Given the description of an element on the screen output the (x, y) to click on. 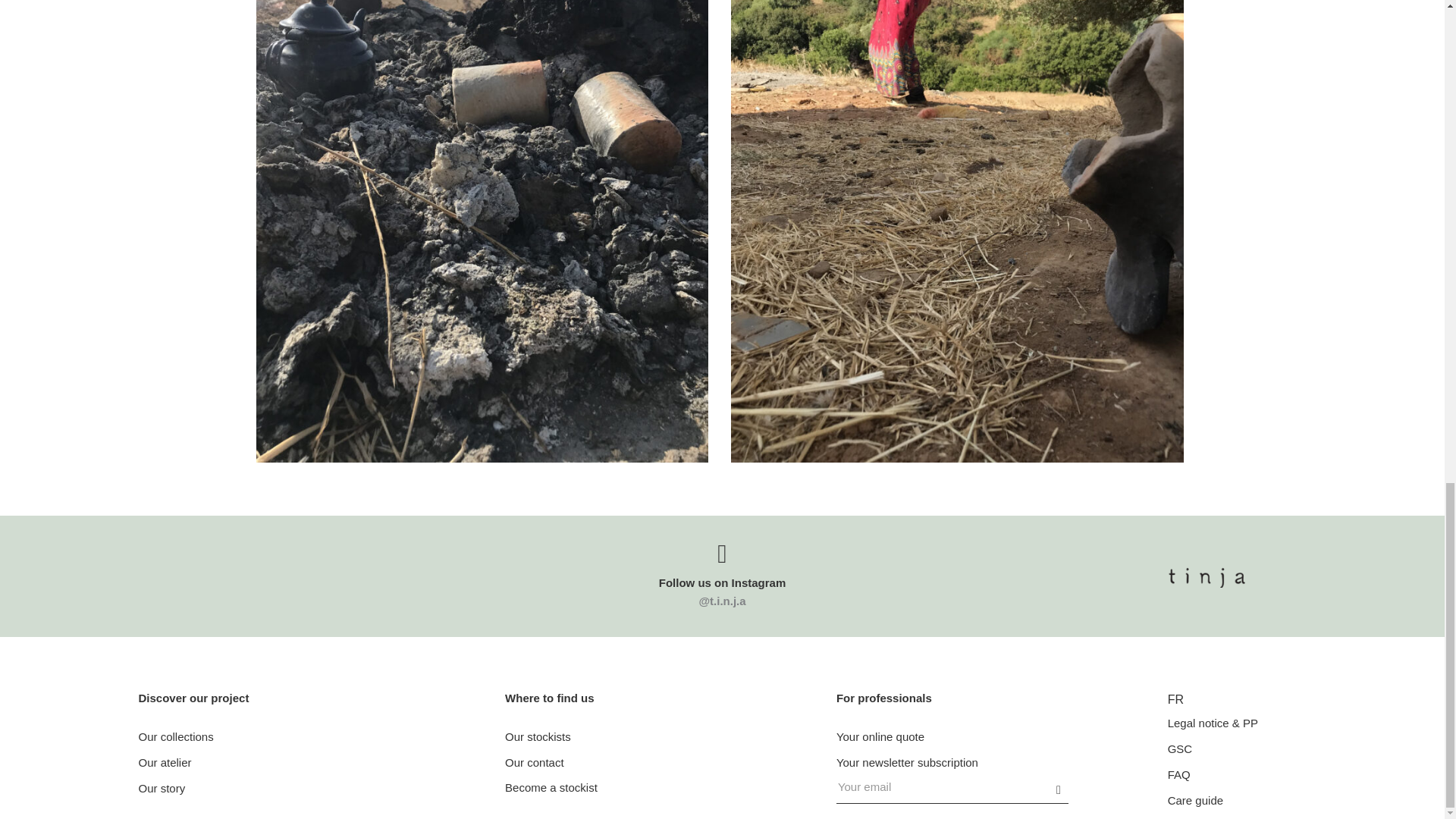
Language switcher : French (1175, 699)
